Given the description of an element on the screen output the (x, y) to click on. 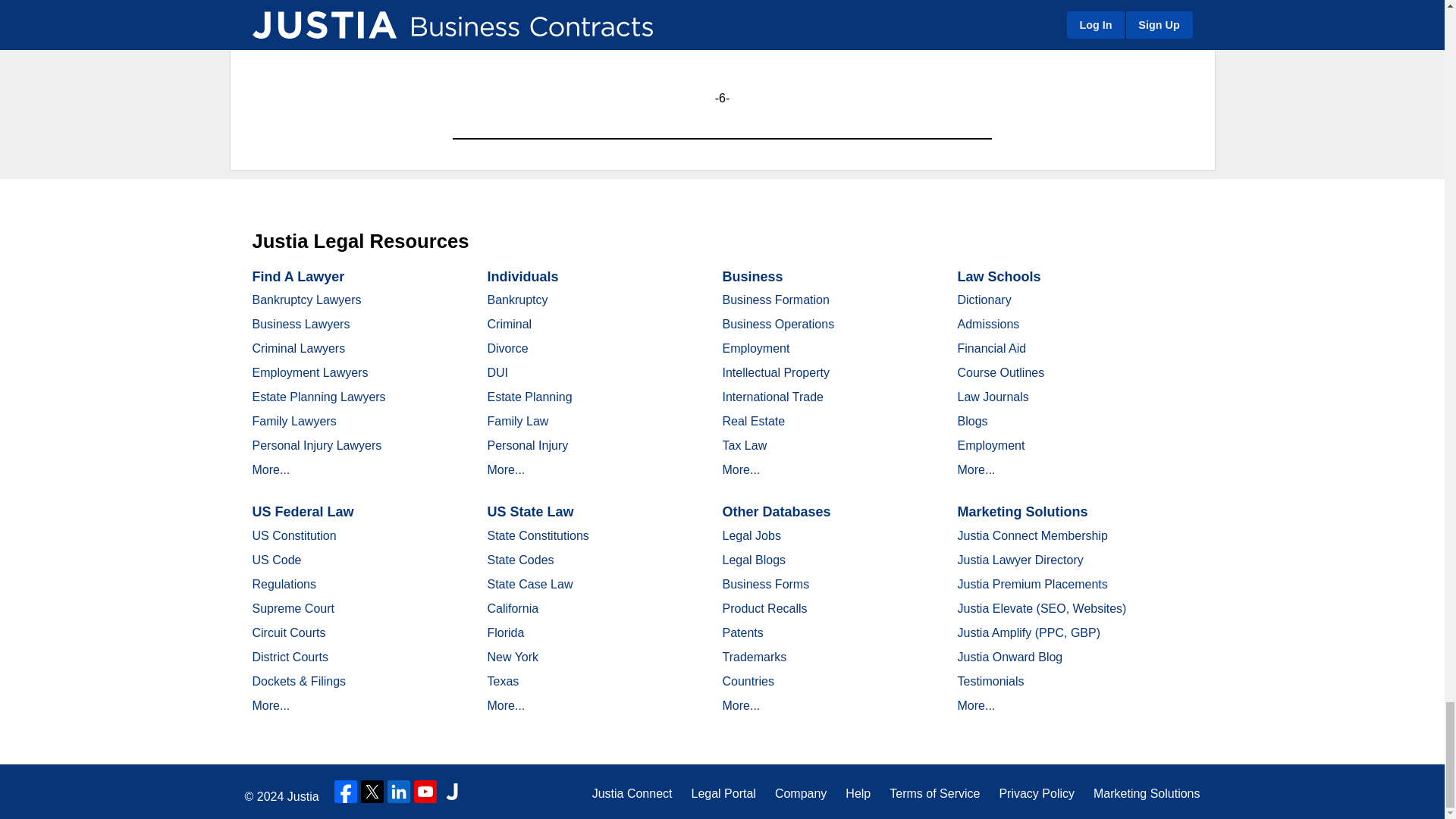
Business Lawyers (300, 323)
Family Lawyers (293, 420)
Bankruptcy Lawyers (306, 299)
Facebook (345, 791)
More... (270, 469)
Find A Lawyer (297, 276)
LinkedIn (398, 791)
Personal Injury Lawyers (316, 445)
Criminal Lawyers (298, 348)
Justia Lawyer Directory (452, 791)
Employment Lawyers (309, 372)
Estate Planning Lawyers (318, 396)
Twitter (372, 791)
YouTube (424, 791)
